Given the description of an element on the screen output the (x, y) to click on. 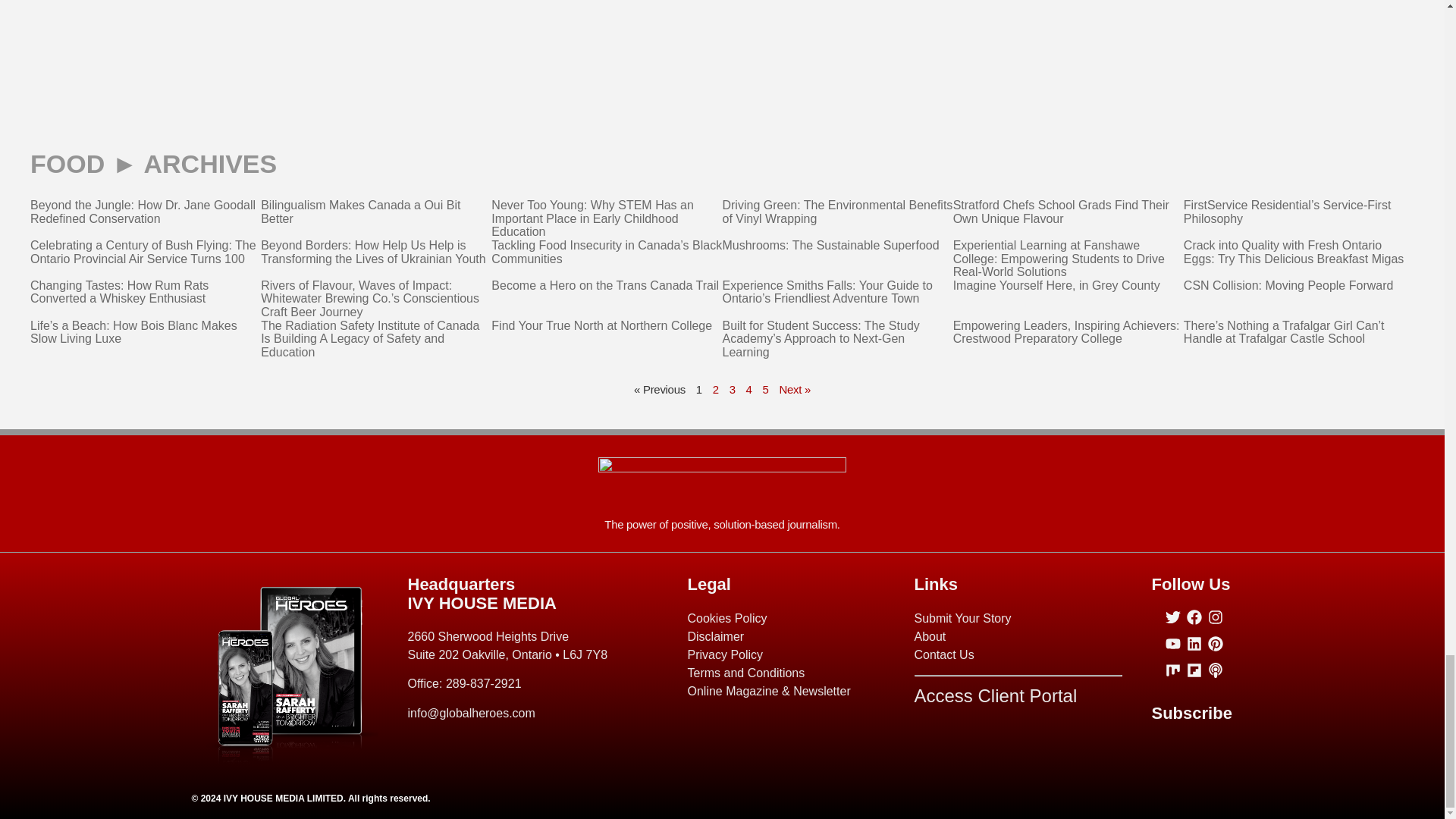
3rd party ad content (721, 16)
